Given the description of an element on the screen output the (x, y) to click on. 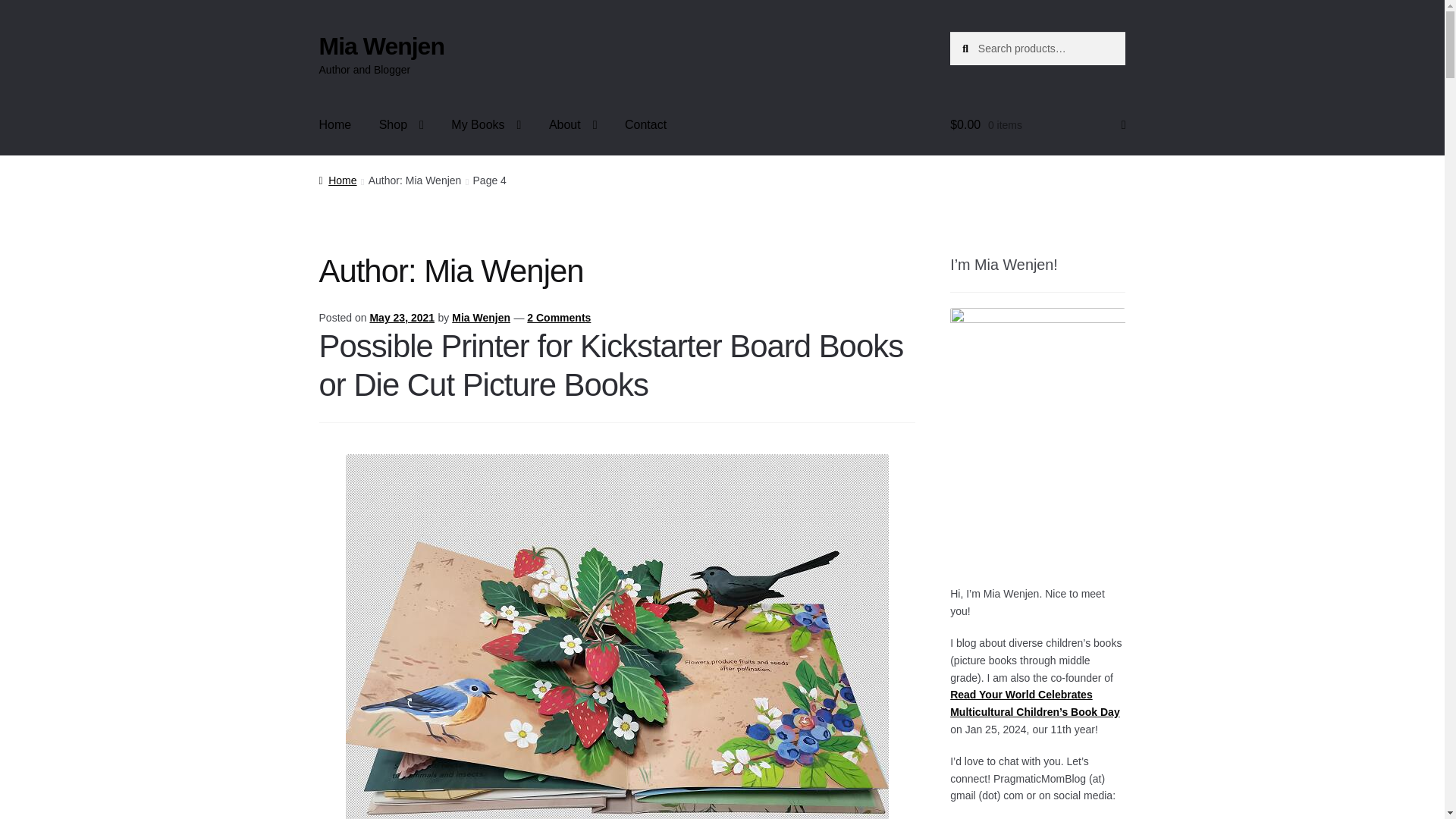
View your shopping cart (1037, 124)
Home (337, 180)
About (573, 124)
Shop (400, 124)
2 Comments (559, 317)
Mia Wenjen (381, 45)
Mia Wenjen (481, 317)
Home (335, 124)
My Books (485, 124)
Contact (645, 124)
May 23, 2021 (401, 317)
